Given the description of an element on the screen output the (x, y) to click on. 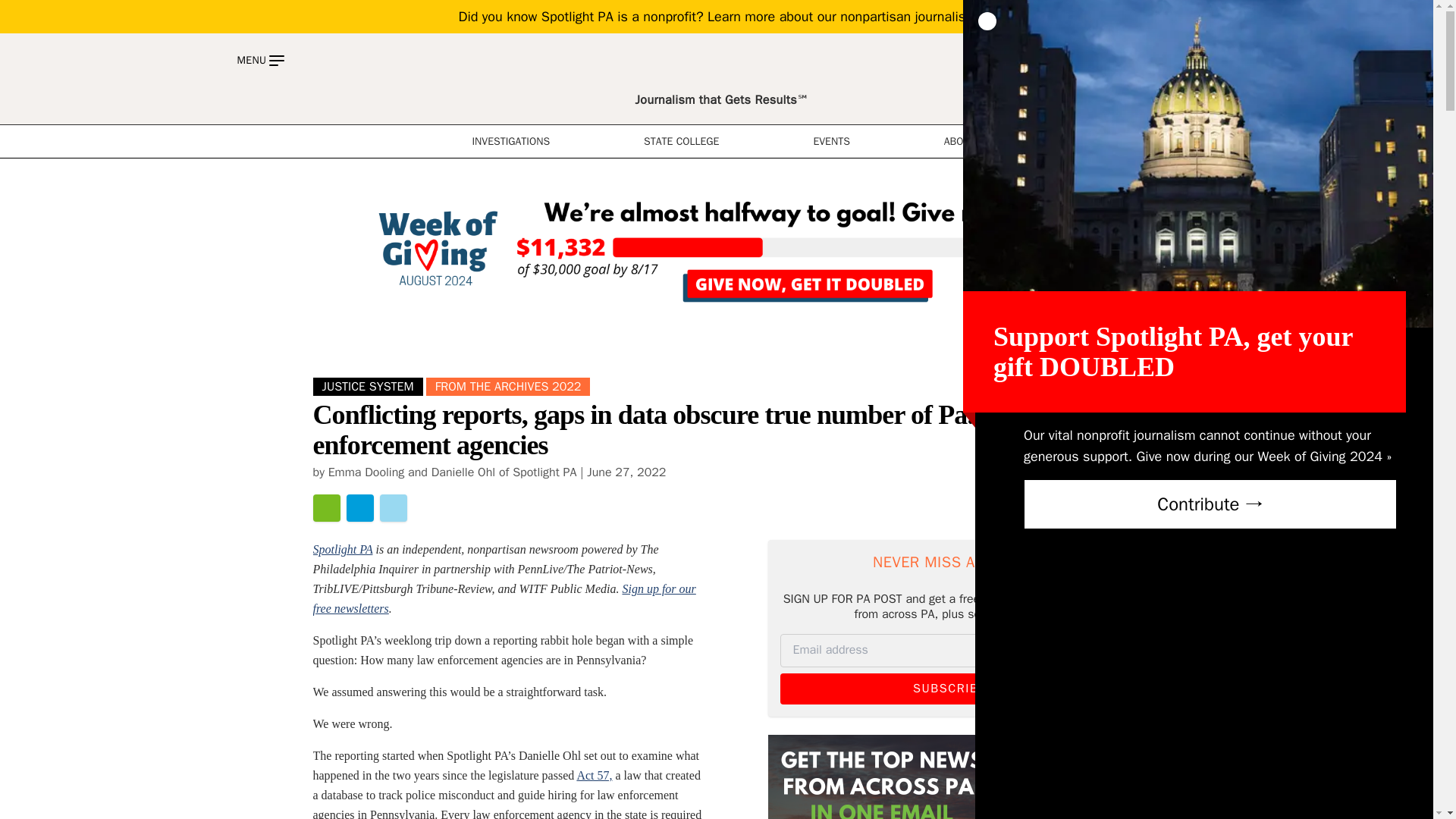
Share this page on Facebook (359, 507)
Share this page by email (326, 507)
Tweet about this page (392, 507)
